Given the description of an element on the screen output the (x, y) to click on. 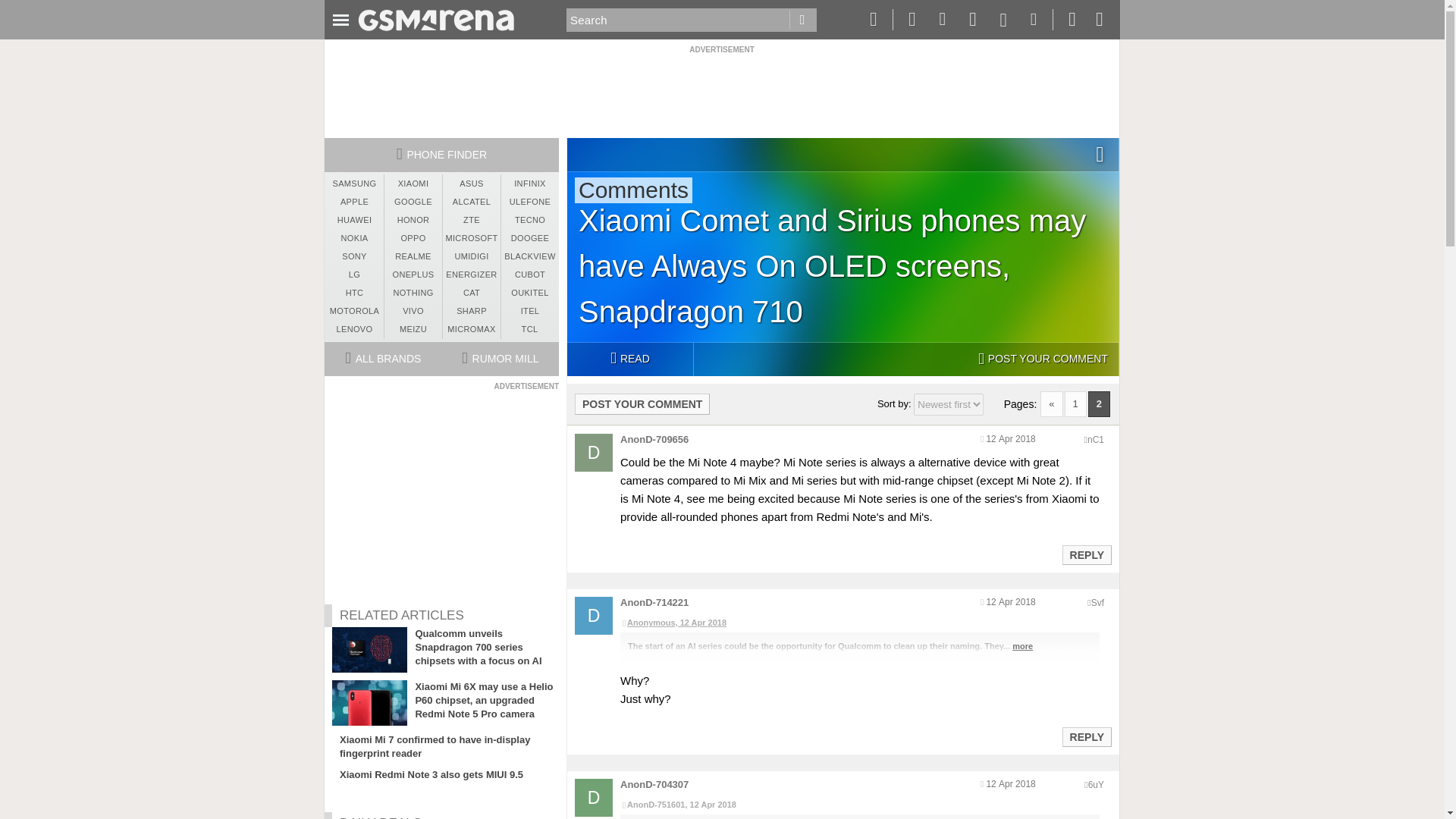
POST YOUR COMMENT (642, 403)
Encoded anonymized location (1095, 439)
Reply to this post (1086, 736)
more (1021, 645)
Reply to this post (1086, 554)
Sort comments by (949, 404)
REPLY (1086, 737)
Encoded anonymized location (1095, 784)
Encoded anonymized location (1096, 602)
Go (802, 19)
